Given the description of an element on the screen output the (x, y) to click on. 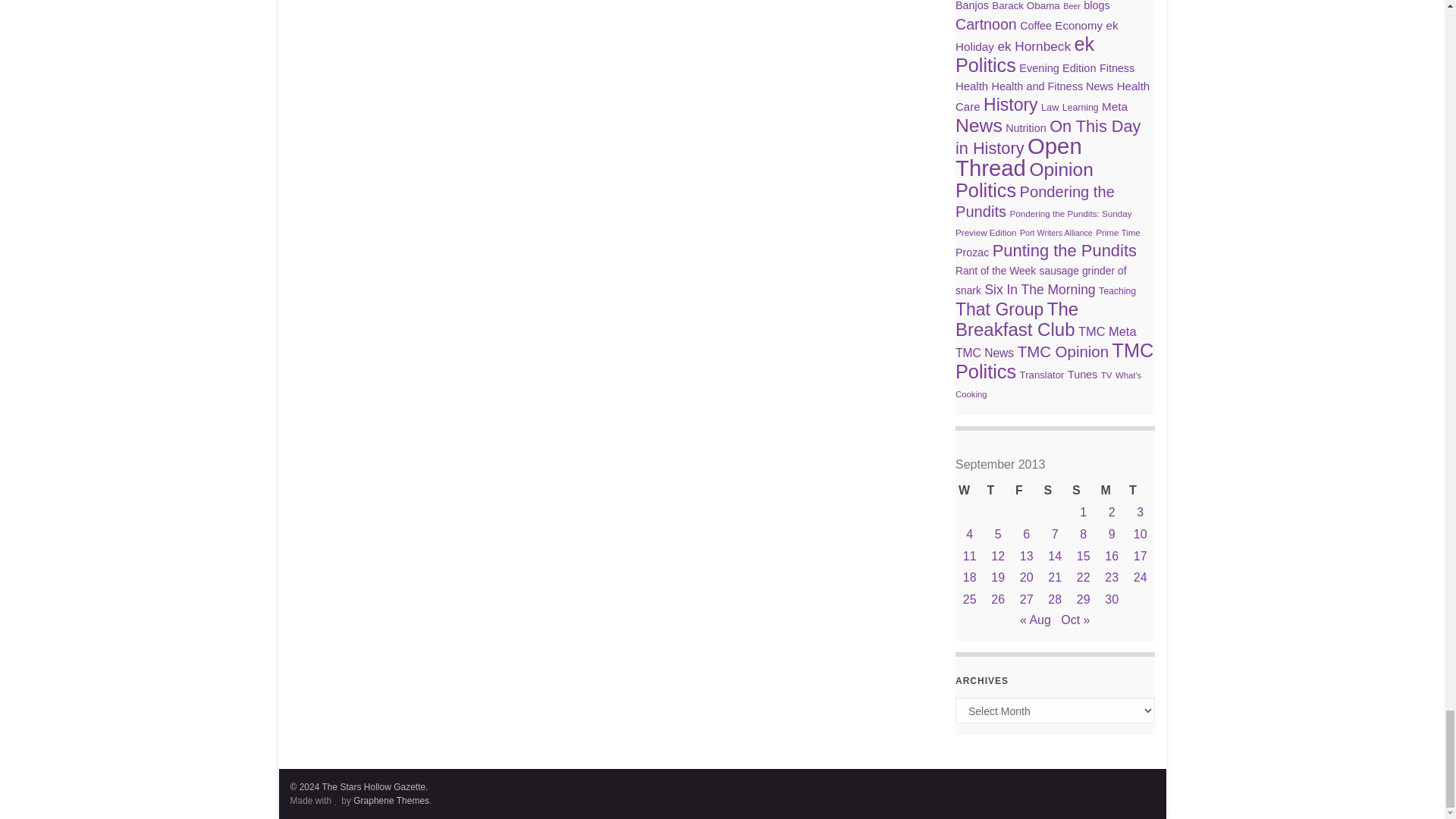
Saturday (1054, 490)
Sunday (1082, 490)
Friday (1026, 490)
Monday (1111, 490)
Tuesday (1139, 490)
Thursday (998, 490)
Wednesday (969, 490)
